Given the description of an element on the screen output the (x, y) to click on. 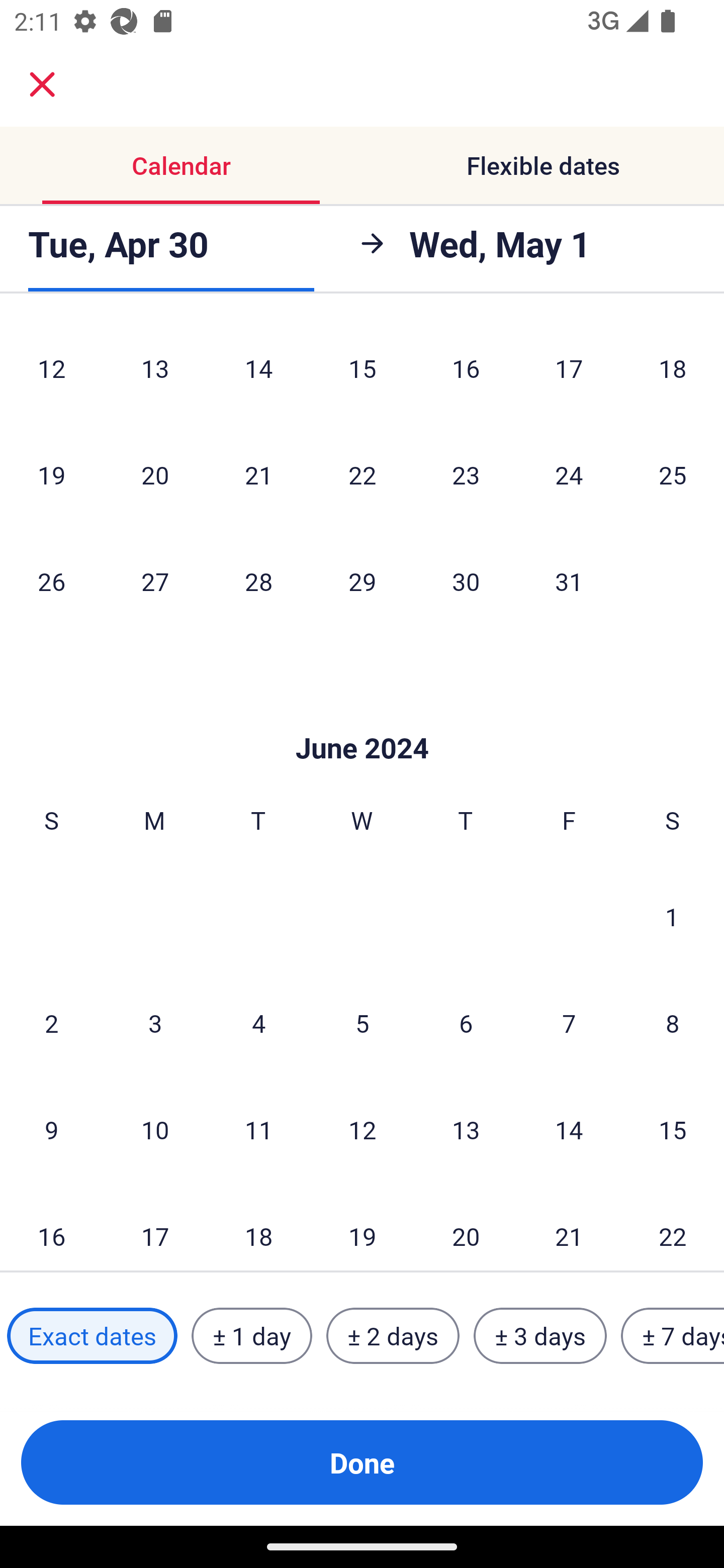
close. (42, 84)
Flexible dates (542, 164)
12 Sunday, May 12, 2024 (51, 370)
13 Monday, May 13, 2024 (155, 370)
14 Tuesday, May 14, 2024 (258, 370)
15 Wednesday, May 15, 2024 (362, 370)
16 Thursday, May 16, 2024 (465, 370)
17 Friday, May 17, 2024 (569, 370)
18 Saturday, May 18, 2024 (672, 370)
19 Sunday, May 19, 2024 (51, 474)
20 Monday, May 20, 2024 (155, 474)
21 Tuesday, May 21, 2024 (258, 474)
22 Wednesday, May 22, 2024 (362, 474)
23 Thursday, May 23, 2024 (465, 474)
24 Friday, May 24, 2024 (569, 474)
25 Saturday, May 25, 2024 (672, 474)
26 Sunday, May 26, 2024 (51, 581)
27 Monday, May 27, 2024 (155, 581)
28 Tuesday, May 28, 2024 (258, 581)
29 Wednesday, May 29, 2024 (362, 581)
30 Thursday, May 30, 2024 (465, 581)
31 Friday, May 31, 2024 (569, 581)
Skip to Done (362, 717)
1 Saturday, June 1, 2024 (672, 916)
2 Sunday, June 2, 2024 (51, 1023)
3 Monday, June 3, 2024 (155, 1023)
4 Tuesday, June 4, 2024 (258, 1023)
5 Wednesday, June 5, 2024 (362, 1023)
6 Thursday, June 6, 2024 (465, 1023)
7 Friday, June 7, 2024 (569, 1023)
8 Saturday, June 8, 2024 (672, 1023)
9 Sunday, June 9, 2024 (51, 1129)
10 Monday, June 10, 2024 (155, 1129)
11 Tuesday, June 11, 2024 (258, 1129)
12 Wednesday, June 12, 2024 (362, 1129)
13 Thursday, June 13, 2024 (465, 1129)
14 Friday, June 14, 2024 (569, 1129)
15 Saturday, June 15, 2024 (672, 1129)
16 Sunday, June 16, 2024 (51, 1226)
17 Monday, June 17, 2024 (155, 1226)
18 Tuesday, June 18, 2024 (258, 1226)
19 Wednesday, June 19, 2024 (362, 1226)
20 Thursday, June 20, 2024 (465, 1226)
21 Friday, June 21, 2024 (569, 1226)
22 Saturday, June 22, 2024 (672, 1226)
Exact dates (92, 1335)
± 1 day (251, 1335)
± 2 days (392, 1335)
± 3 days (539, 1335)
± 7 days (672, 1335)
Done (361, 1462)
